Given the description of an element on the screen output the (x, y) to click on. 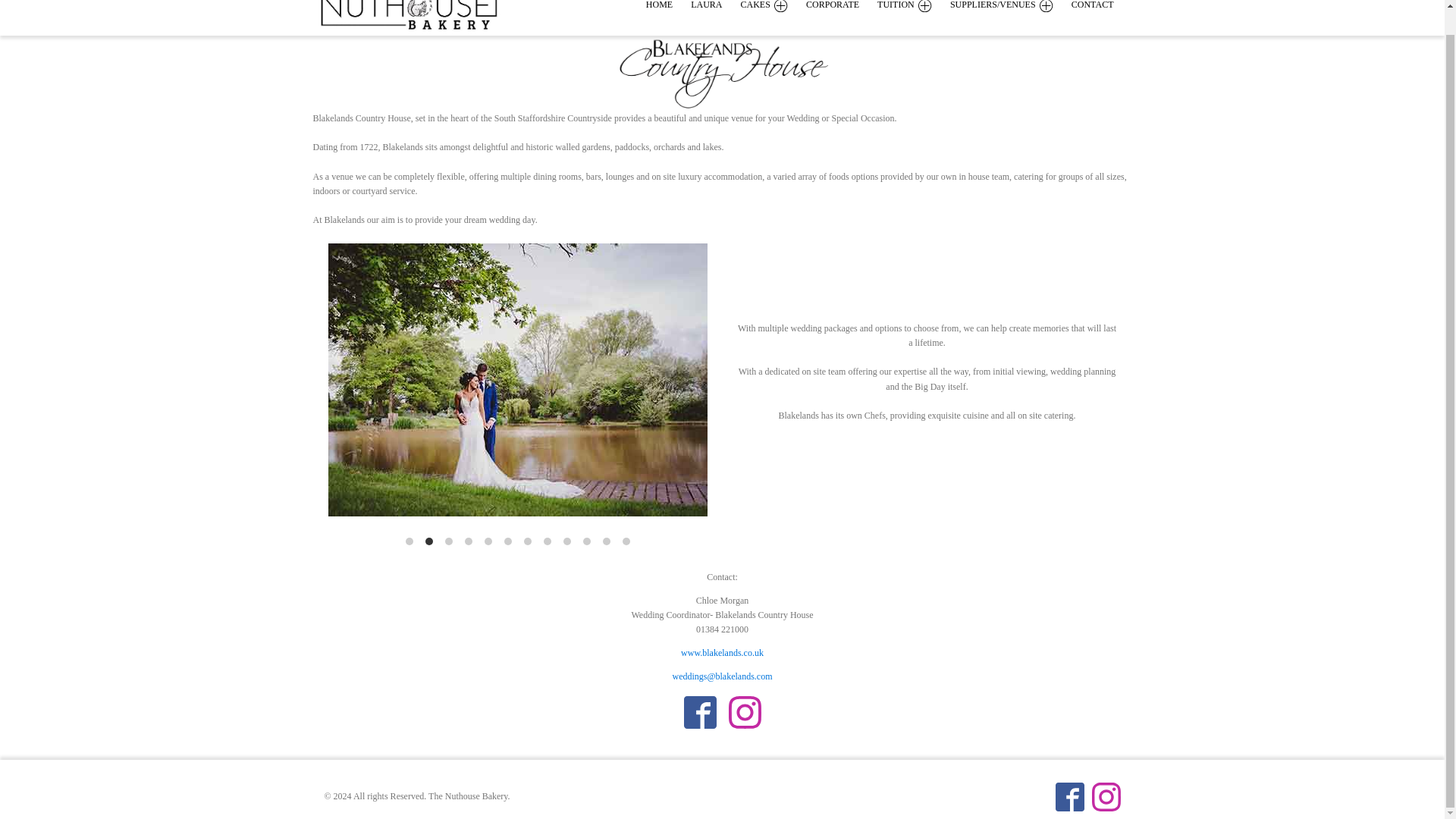
TUITION (913, 6)
CORPORATE (841, 6)
HOME (668, 6)
CAKES (773, 6)
LAURA (714, 6)
www.blakelands.co.uk (721, 652)
CONTACT (1101, 6)
